Given the description of an element on the screen output the (x, y) to click on. 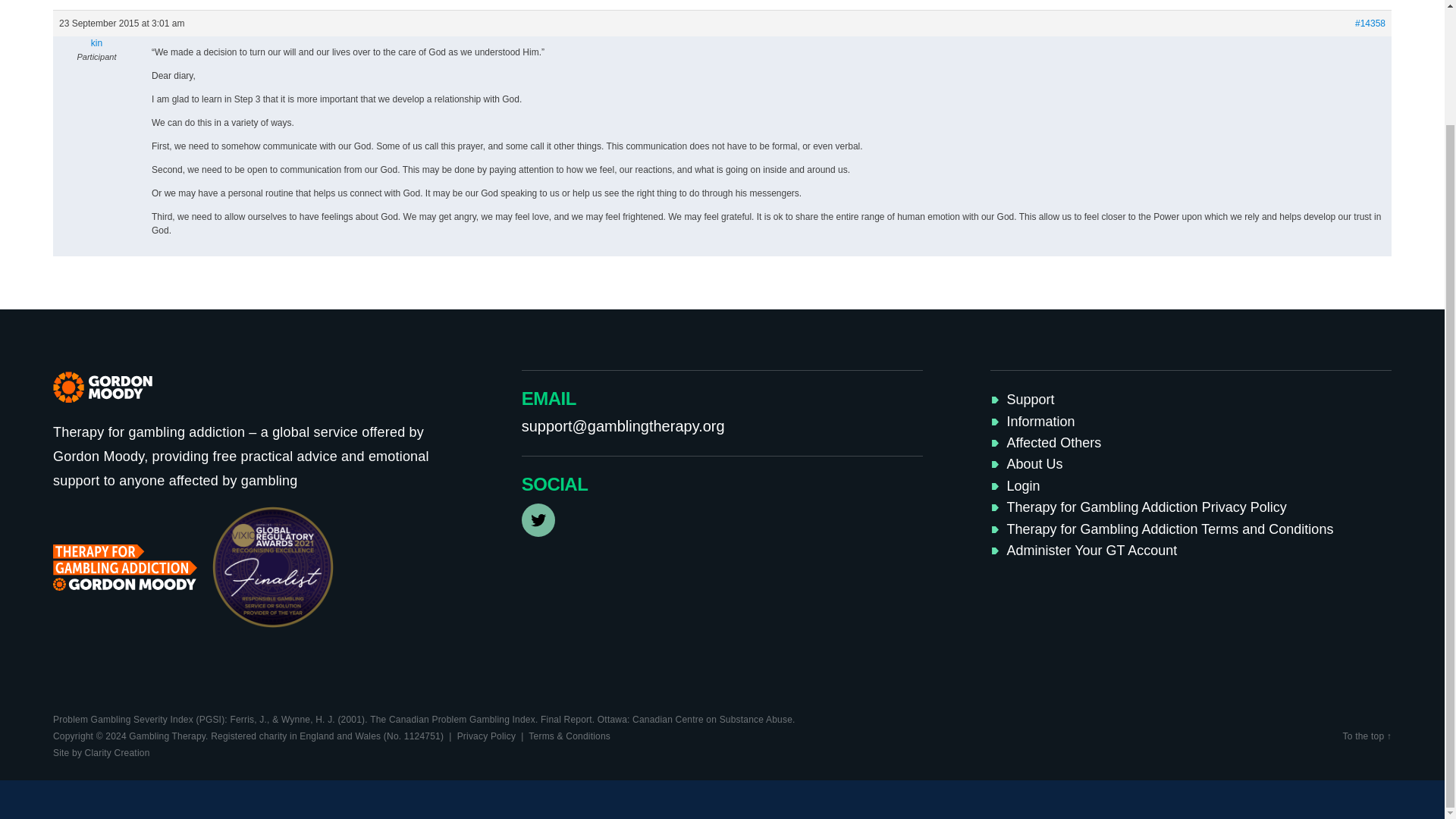
Visit the Clarity Creation website (100, 752)
View kin's profile (95, 42)
